Given the description of an element on the screen output the (x, y) to click on. 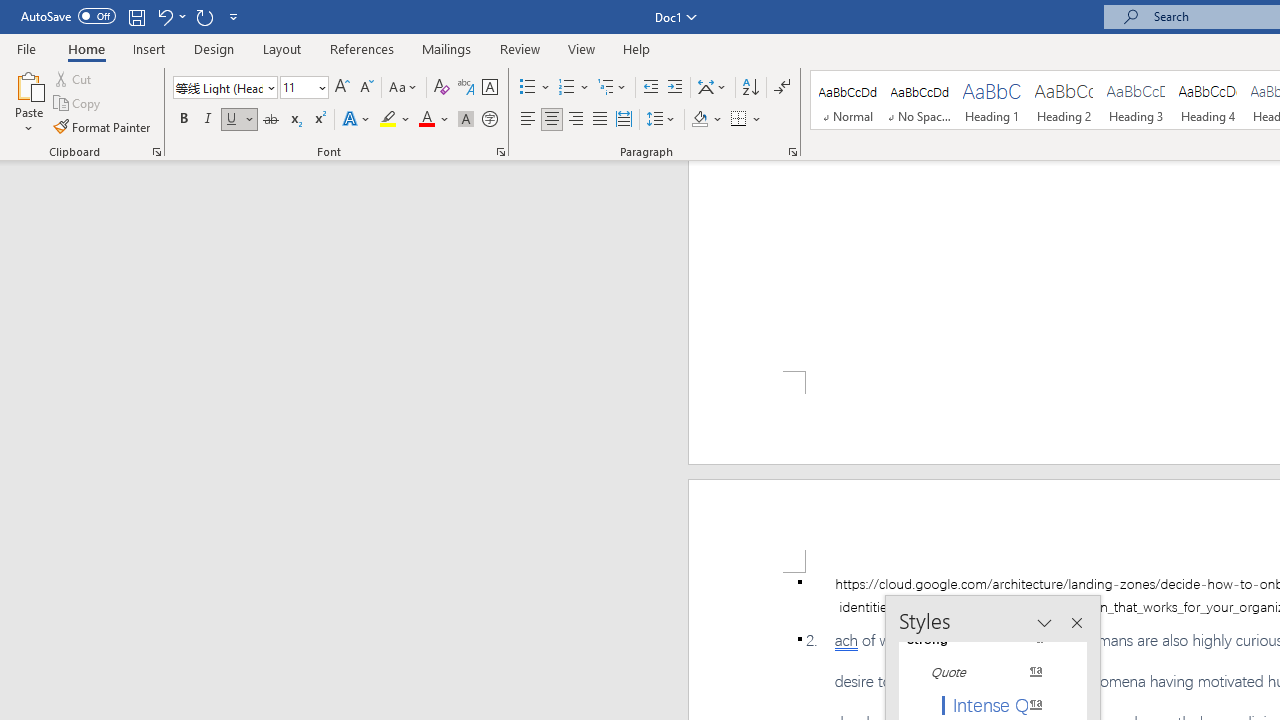
AutoSave (68, 16)
Enclose Characters... (489, 119)
Quote (984, 672)
Change Case (404, 87)
Heading 2 (1063, 100)
Asian Layout (712, 87)
Align Right (575, 119)
Copy (78, 103)
Text Effects and Typography (357, 119)
